Given the description of an element on the screen output the (x, y) to click on. 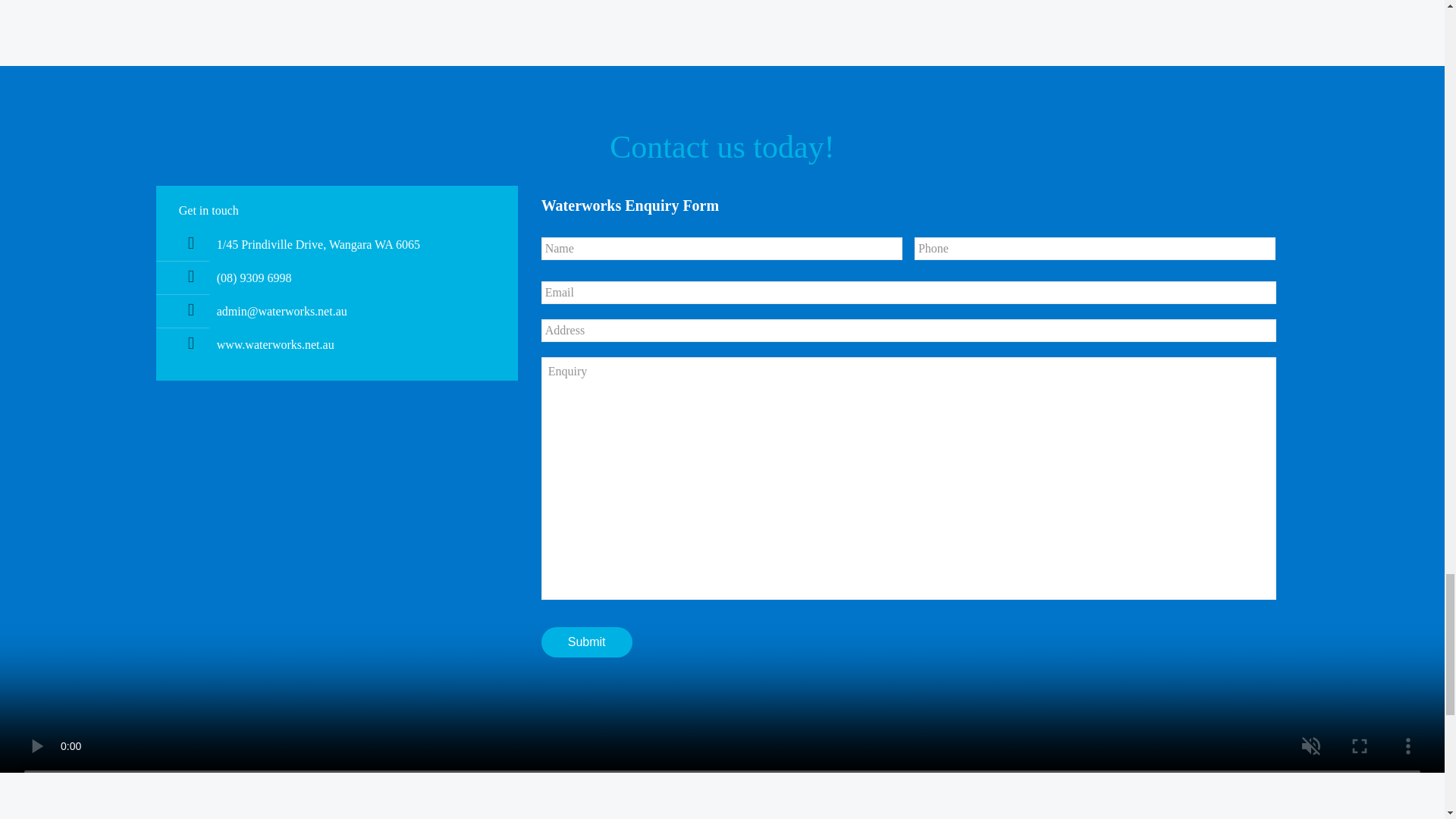
www.waterworks.net.au (275, 344)
Submit (586, 642)
Submit (586, 642)
